Given the description of an element on the screen output the (x, y) to click on. 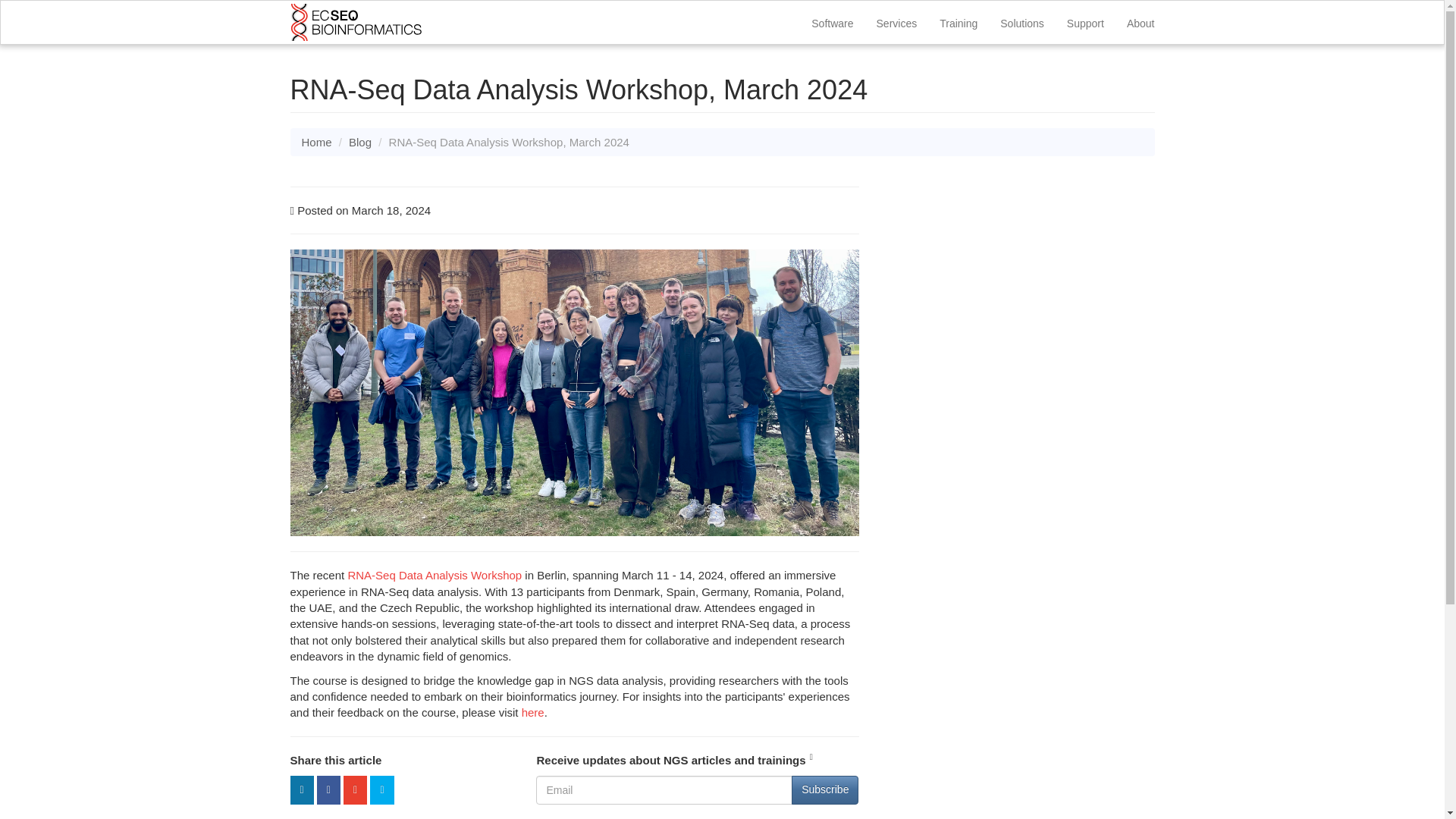
Services (896, 20)
Home (316, 141)
here (532, 712)
Solutions (1021, 20)
Blog (360, 141)
Software (831, 20)
Support (1085, 20)
Subscribe (825, 789)
Training (958, 20)
RNA-Seq Data Analysis Workshop (434, 574)
